Given the description of an element on the screen output the (x, y) to click on. 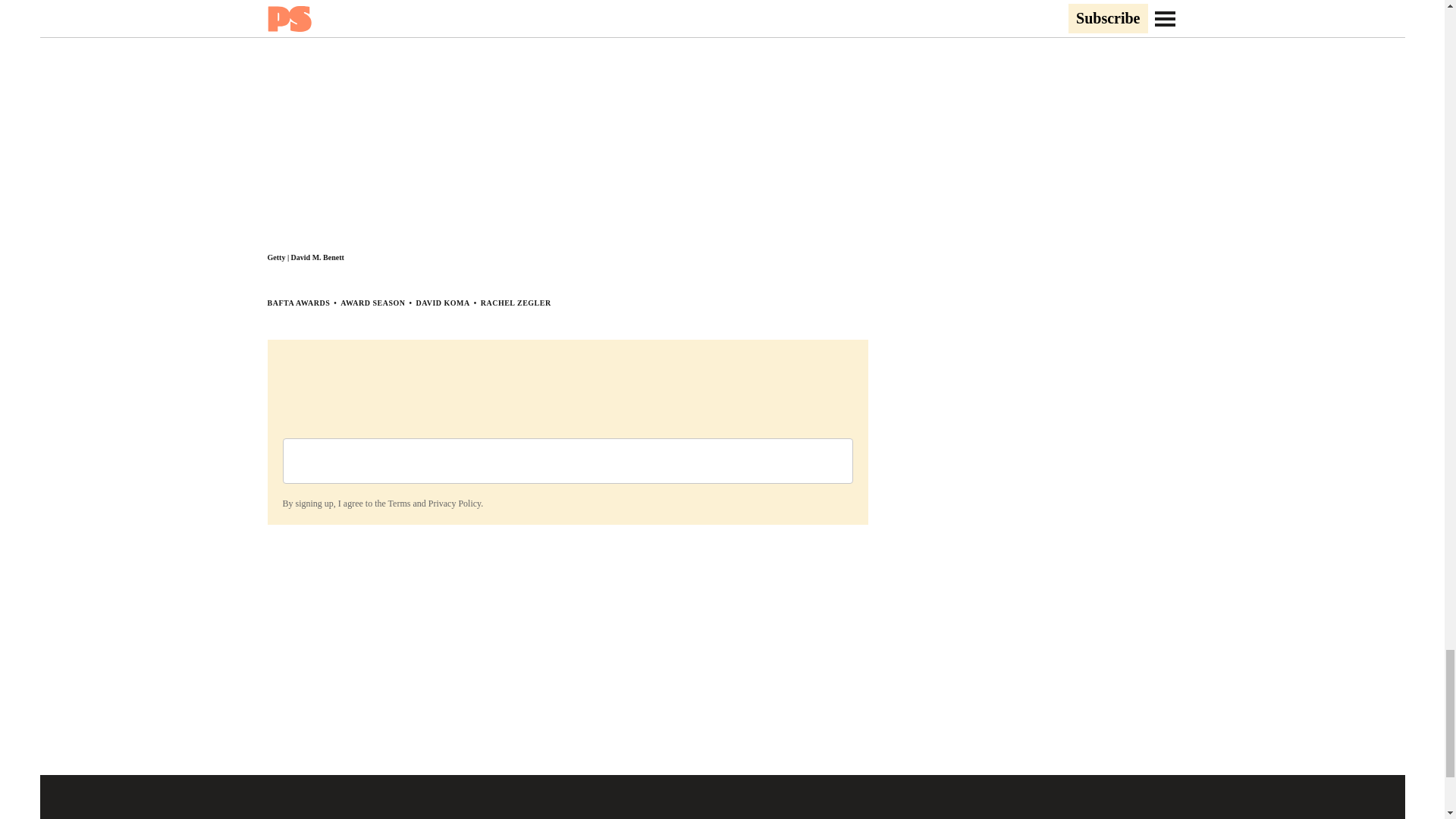
RACHEL ZEGLER (515, 302)
BAFTA AWARDS (298, 302)
Privacy Policy. (455, 502)
DAVID KOMA (441, 302)
Terms (399, 502)
AWARD SEASON (372, 302)
